Given the description of an element on the screen output the (x, y) to click on. 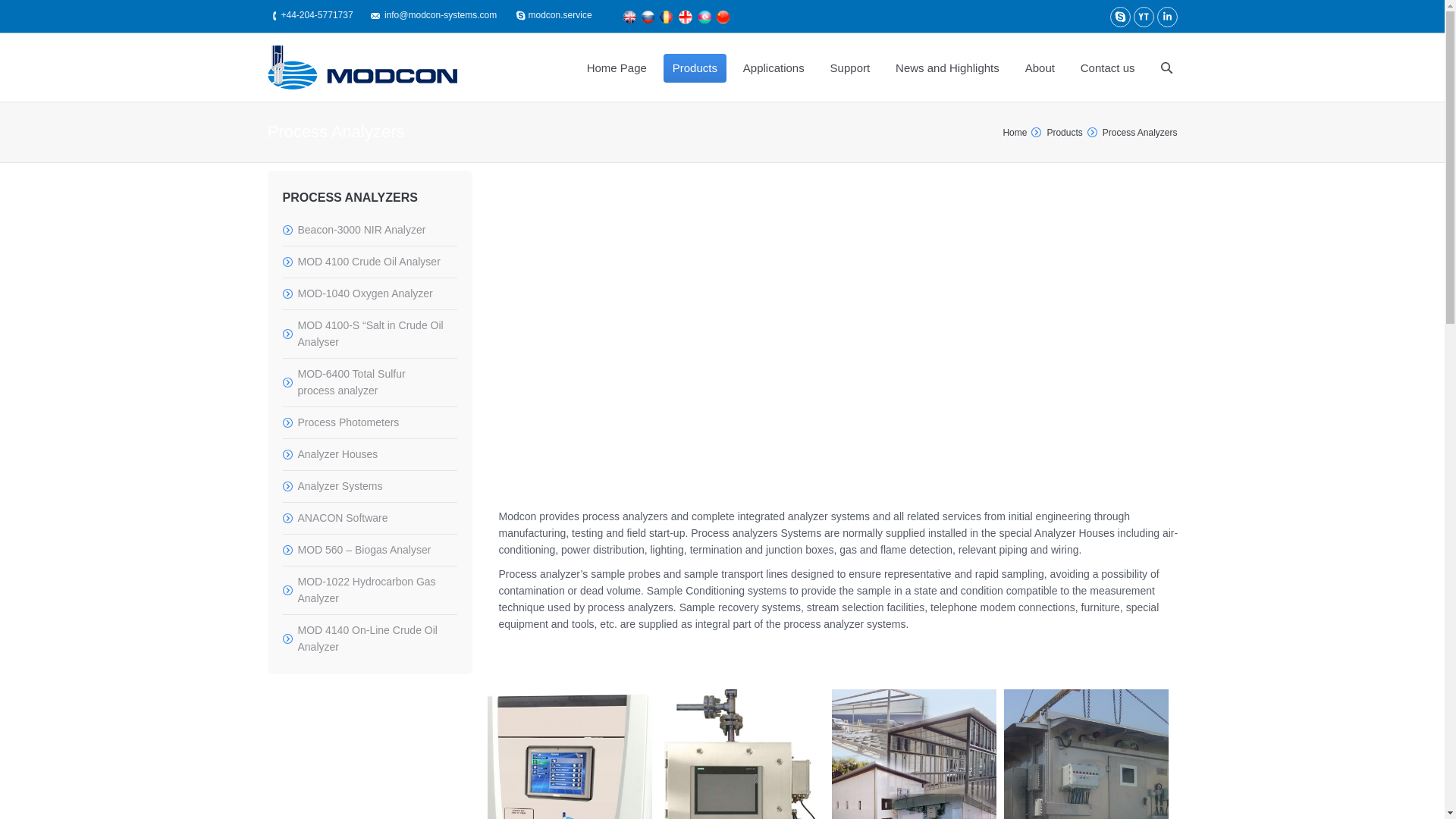
Applications (773, 67)
Support (850, 67)
Azeri (705, 17)
Chinese (723, 17)
Linkedin (1167, 16)
YouTube (1142, 16)
Products (694, 67)
Georgia (684, 16)
Russian (648, 17)
Home Page (617, 67)
Skype (1120, 16)
Romanian (666, 17)
English (630, 17)
